Given the description of an element on the screen output the (x, y) to click on. 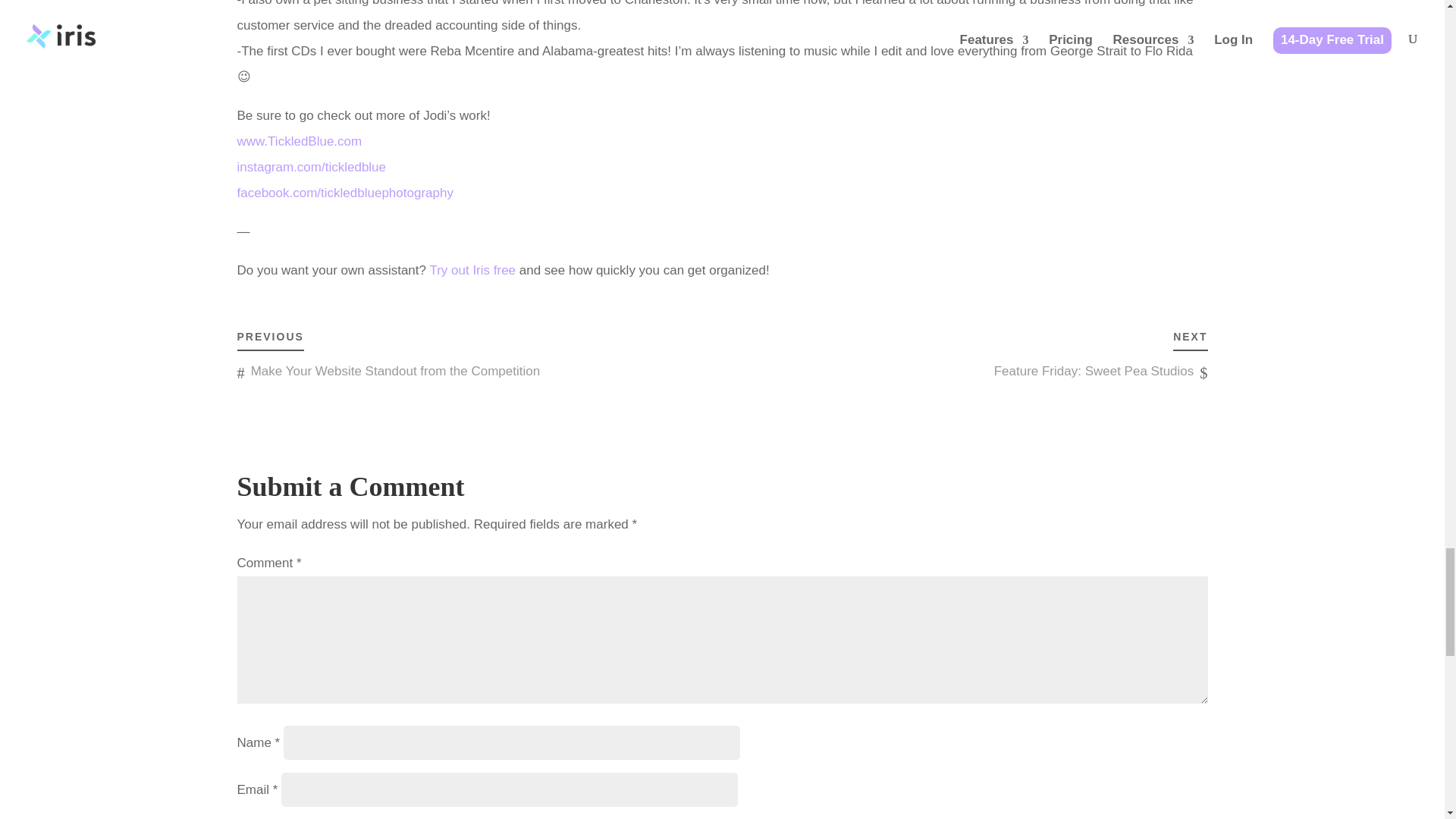
www.TickledBlue.com (298, 141)
Try out Iris free (472, 269)
